Given the description of an element on the screen output the (x, y) to click on. 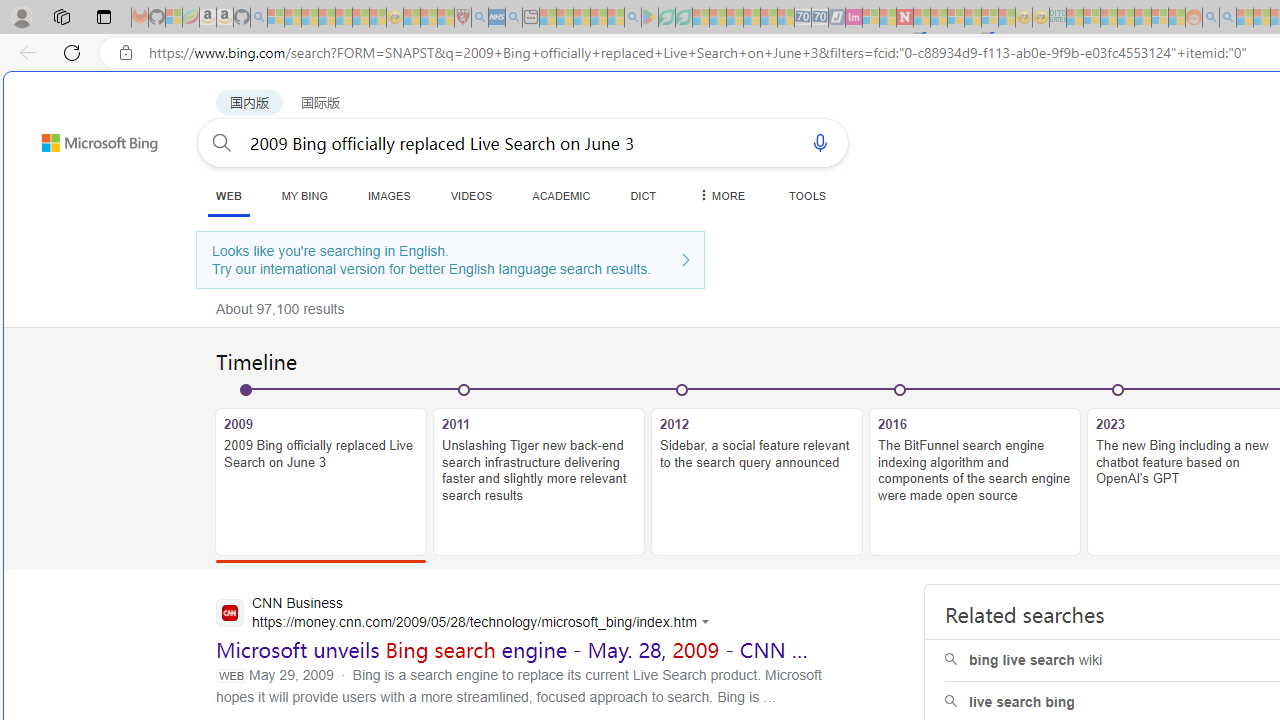
MORE (720, 195)
New Report Confirms 2023 Was Record Hot | Watch - Sleeping (343, 17)
MY BING (303, 195)
